Given the description of an element on the screen output the (x, y) to click on. 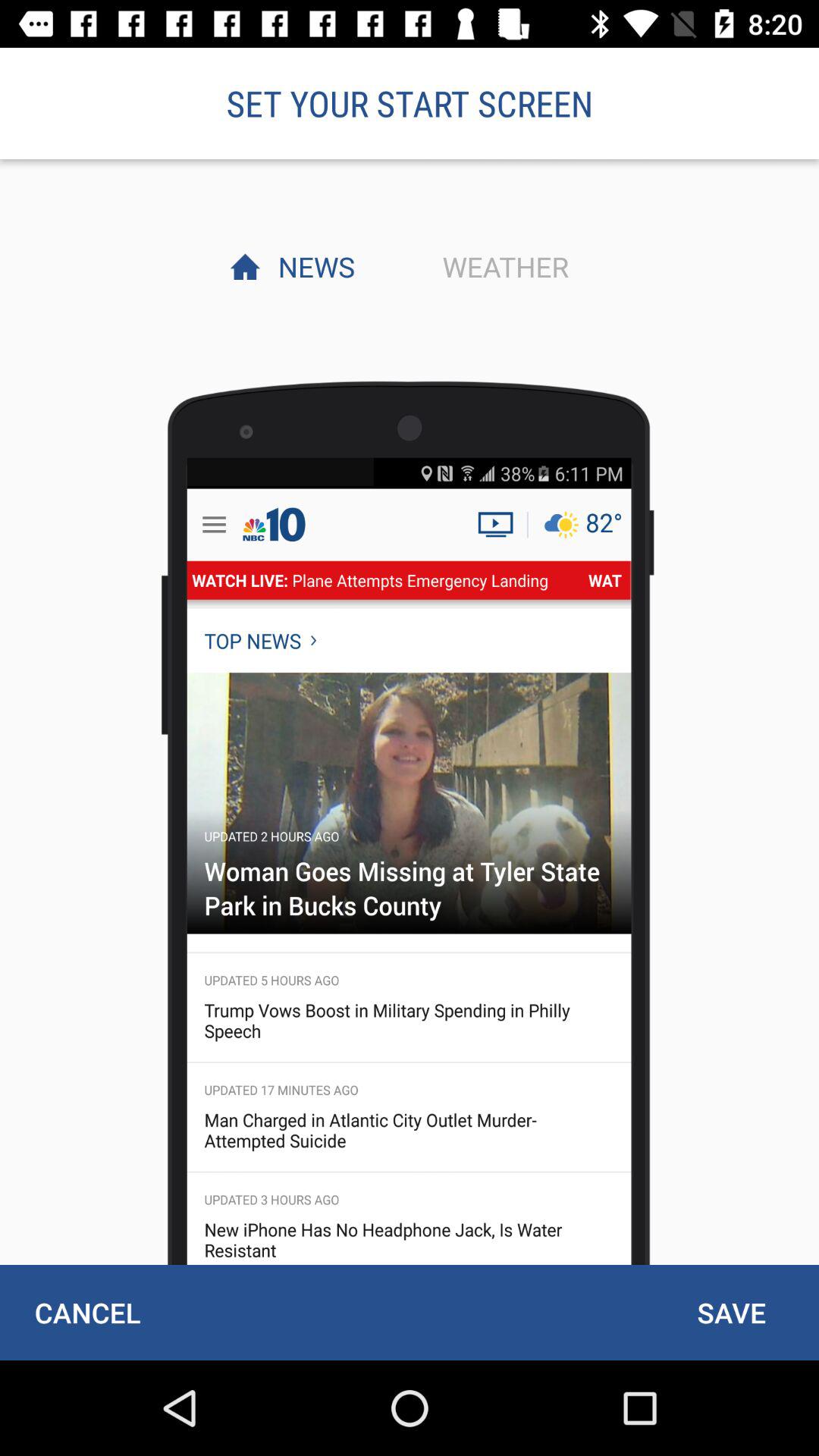
scroll until the weather item (501, 266)
